Given the description of an element on the screen output the (x, y) to click on. 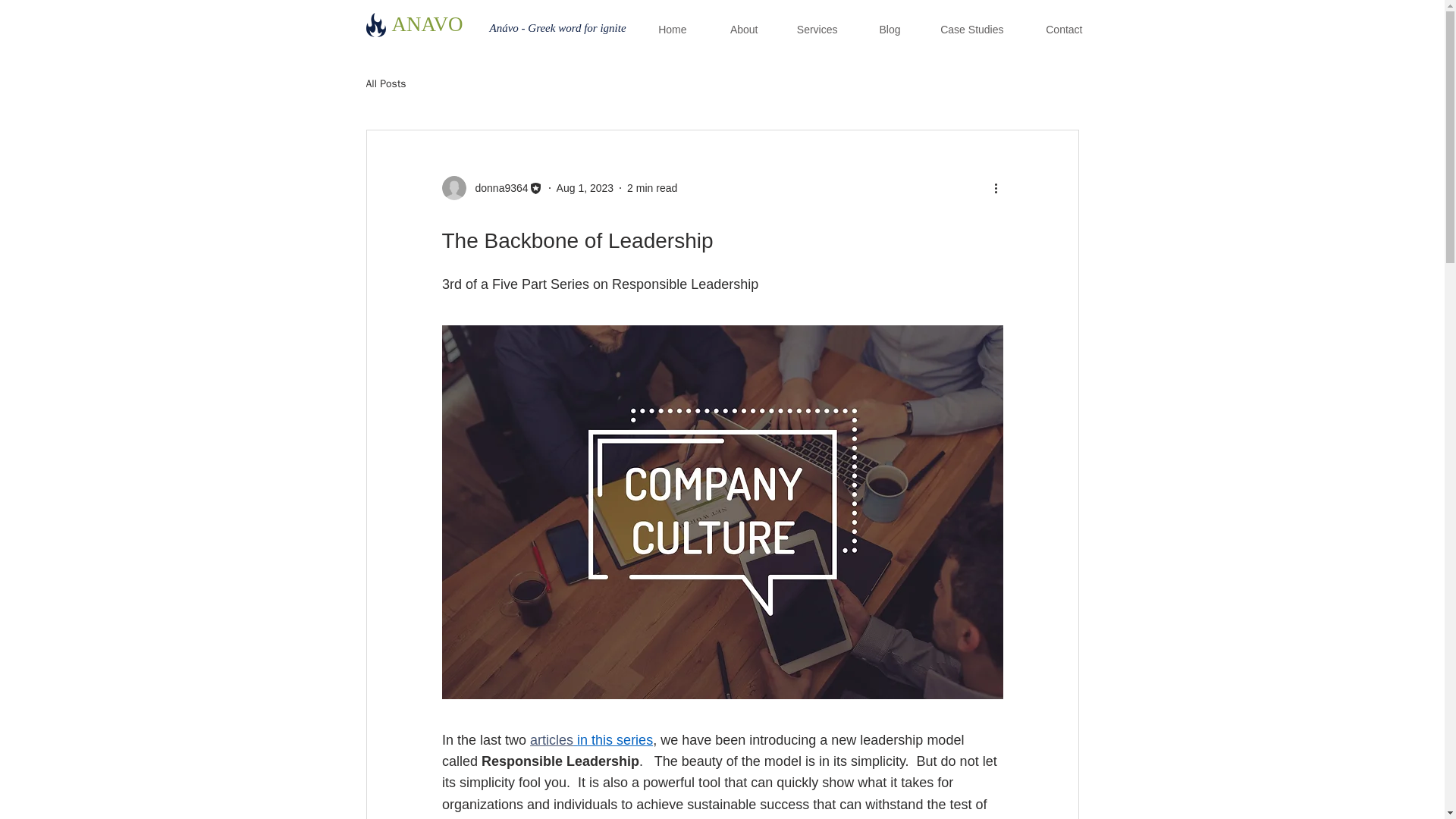
articles (551, 739)
All Posts (385, 83)
Contact (1053, 29)
Blog (880, 29)
ANAVO (427, 24)
donna9364 (491, 187)
donna9364 (496, 188)
in this series (614, 739)
2 min read (652, 187)
Services (808, 29)
About (732, 29)
Aug 1, 2023 (585, 187)
Case Studies (962, 29)
Home (662, 29)
